Given the description of an element on the screen output the (x, y) to click on. 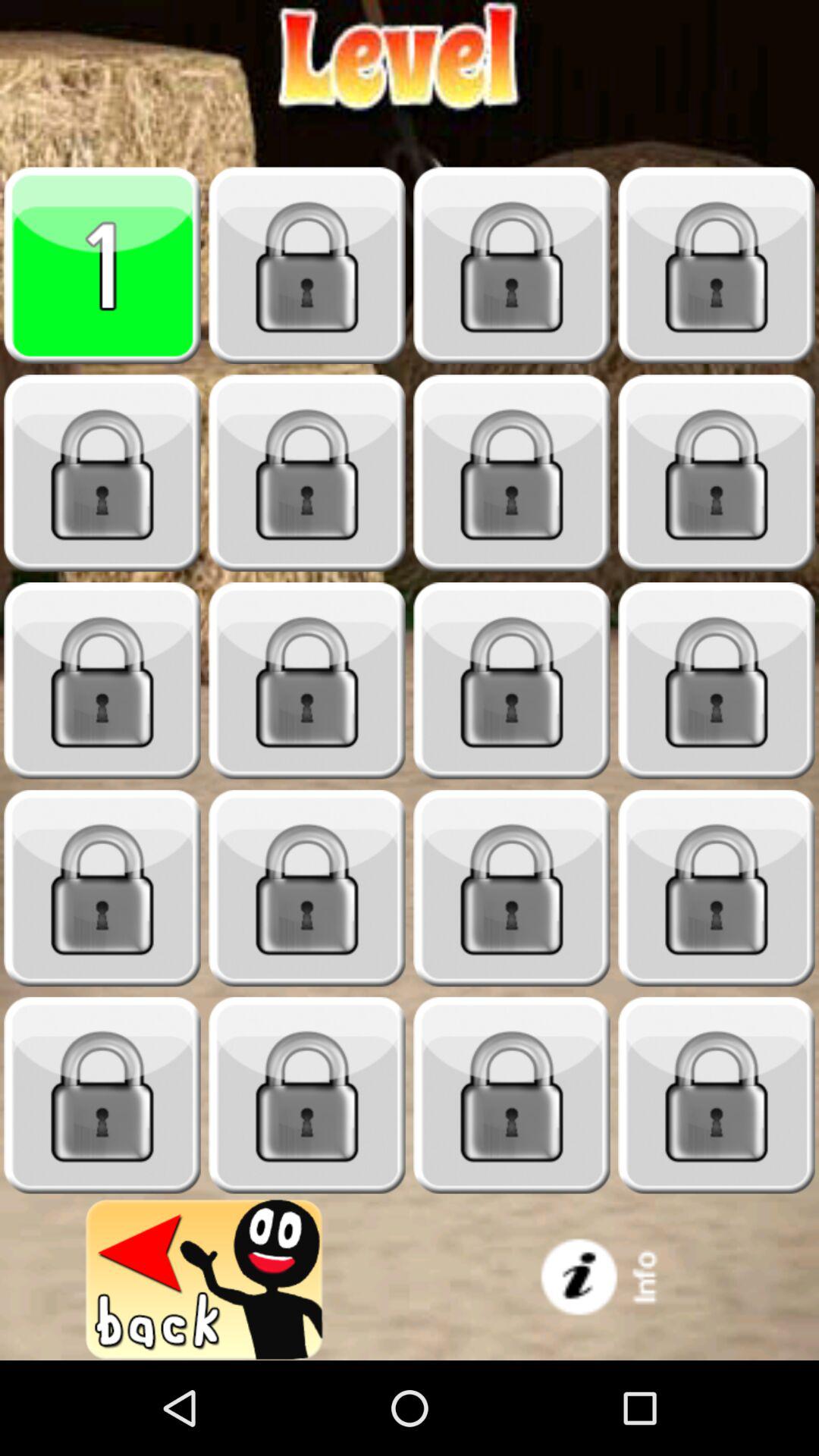
go to previous (204, 1279)
